Given the description of an element on the screen output the (x, y) to click on. 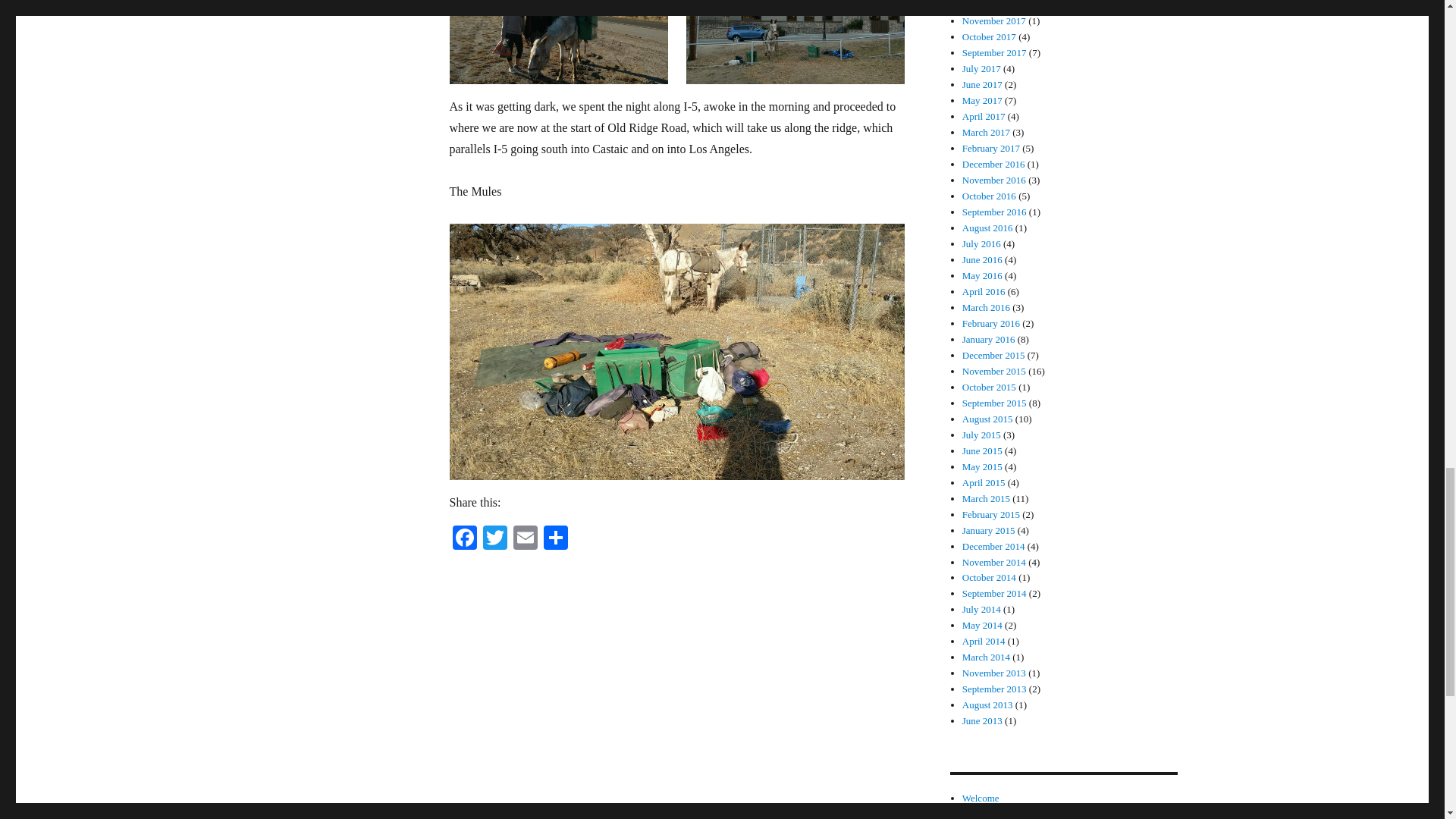
Email (524, 539)
Twitter (494, 539)
Facebook (463, 539)
Email (524, 539)
Facebook (463, 539)
Twitter (494, 539)
